Given the description of an element on the screen output the (x, y) to click on. 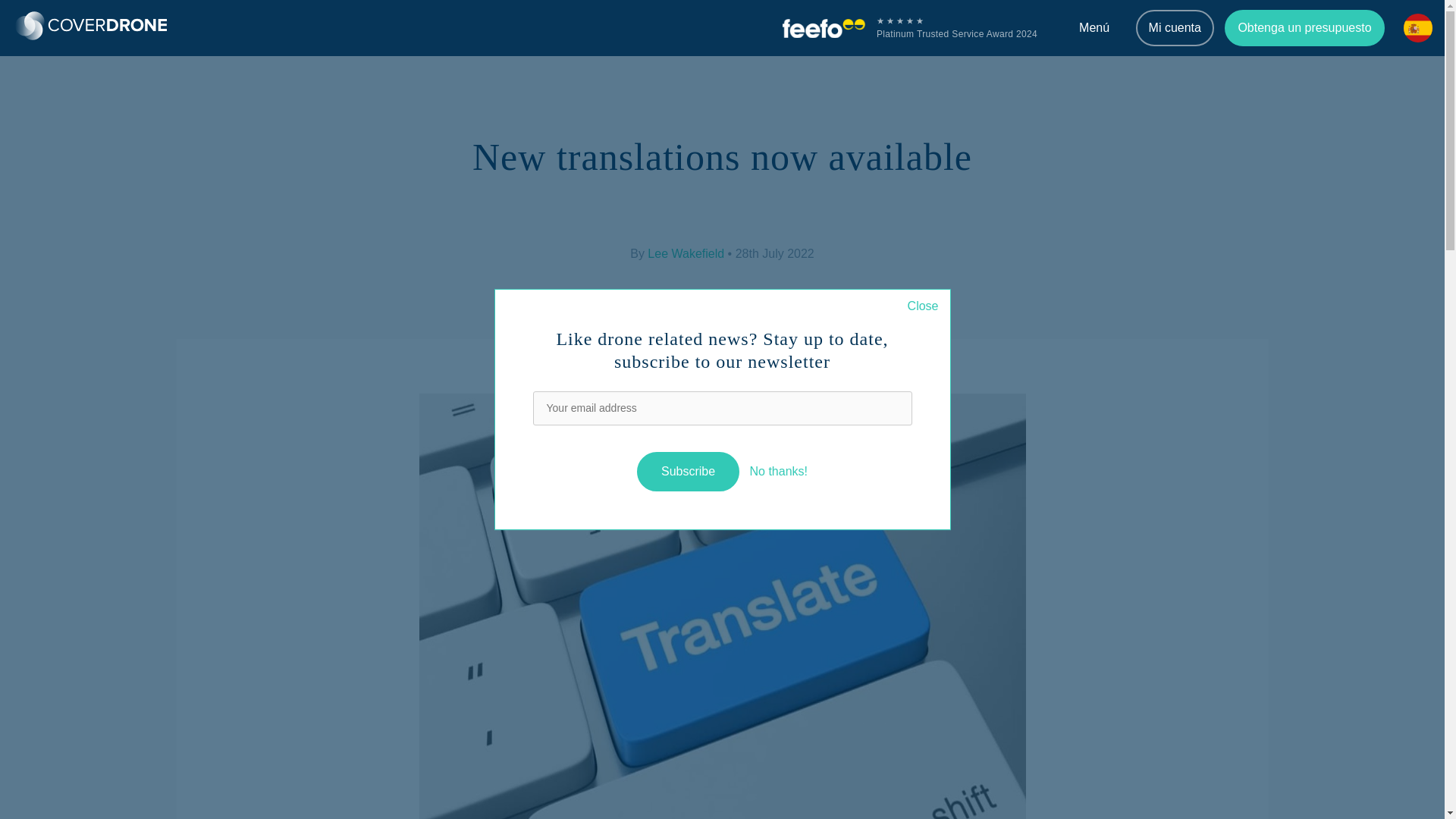
Mi cuenta (1174, 27)
Obtenga un presupuesto (1304, 27)
Close window (777, 471)
Subscribe (688, 471)
Close window (923, 306)
Lee Wakefield (686, 254)
